Given the description of an element on the screen output the (x, y) to click on. 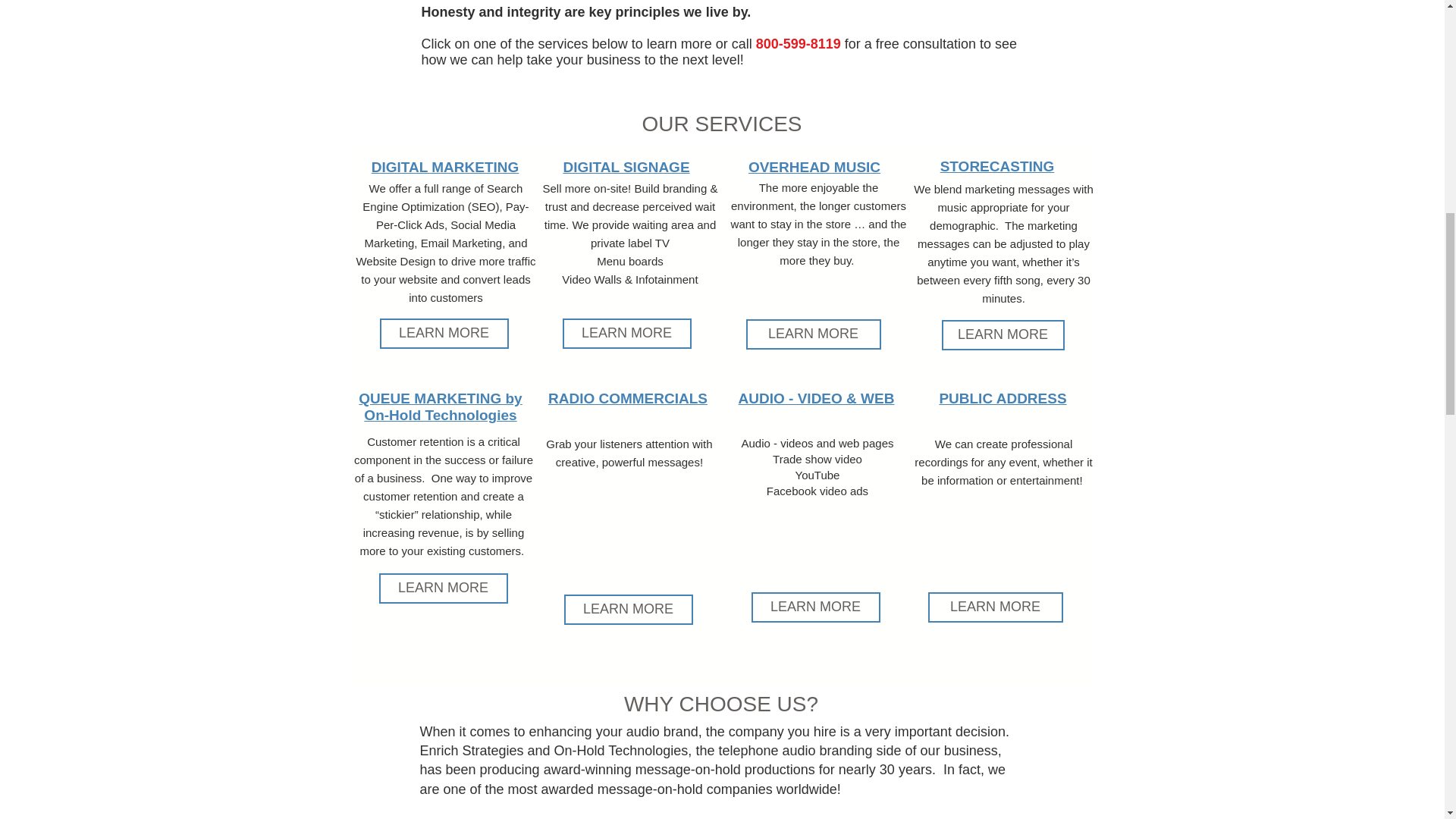
LEARN MORE (1003, 335)
QUEUE MARKETING by On-Hold Technologies (439, 406)
LEARN MORE (626, 333)
LEARN MORE (812, 334)
LEARN MORE (628, 609)
LEARN MORE (443, 588)
LEARN MORE (995, 607)
LEARN MORE (815, 607)
OVERHEAD MUSIC (814, 166)
WHY CHOOSE US? (721, 703)
